Given the description of an element on the screen output the (x, y) to click on. 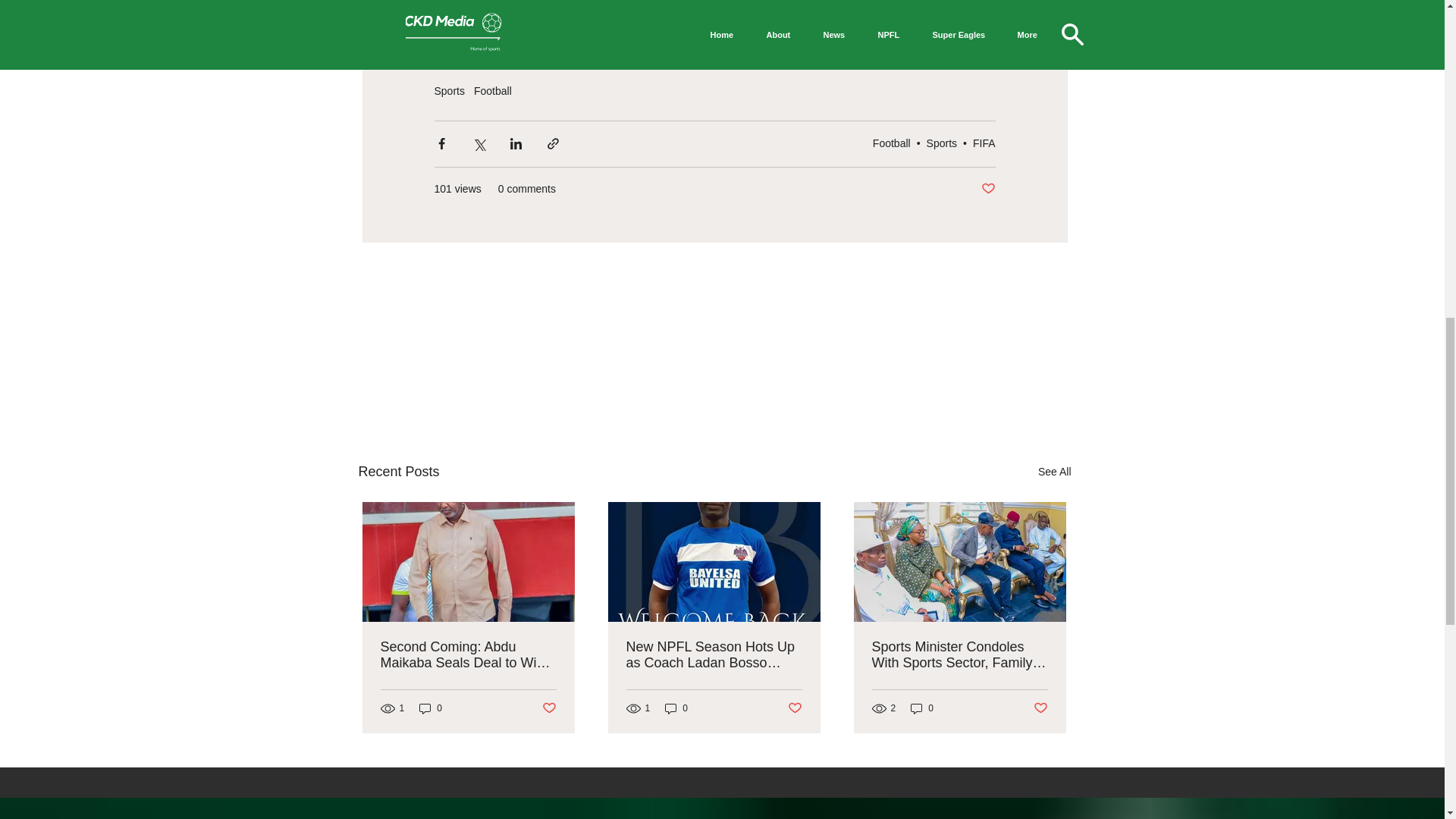
Sports (448, 91)
0 (675, 707)
Football (891, 143)
See All (1054, 472)
Post not marked as liked (794, 708)
Post not marked as liked (988, 188)
Second Coming: Abdu Maikaba Seals Deal to Wikki Tourist (468, 654)
Football (493, 91)
FIFA (983, 143)
Sports (941, 143)
0 (430, 707)
Post not marked as liked (548, 708)
